Given the description of an element on the screen output the (x, y) to click on. 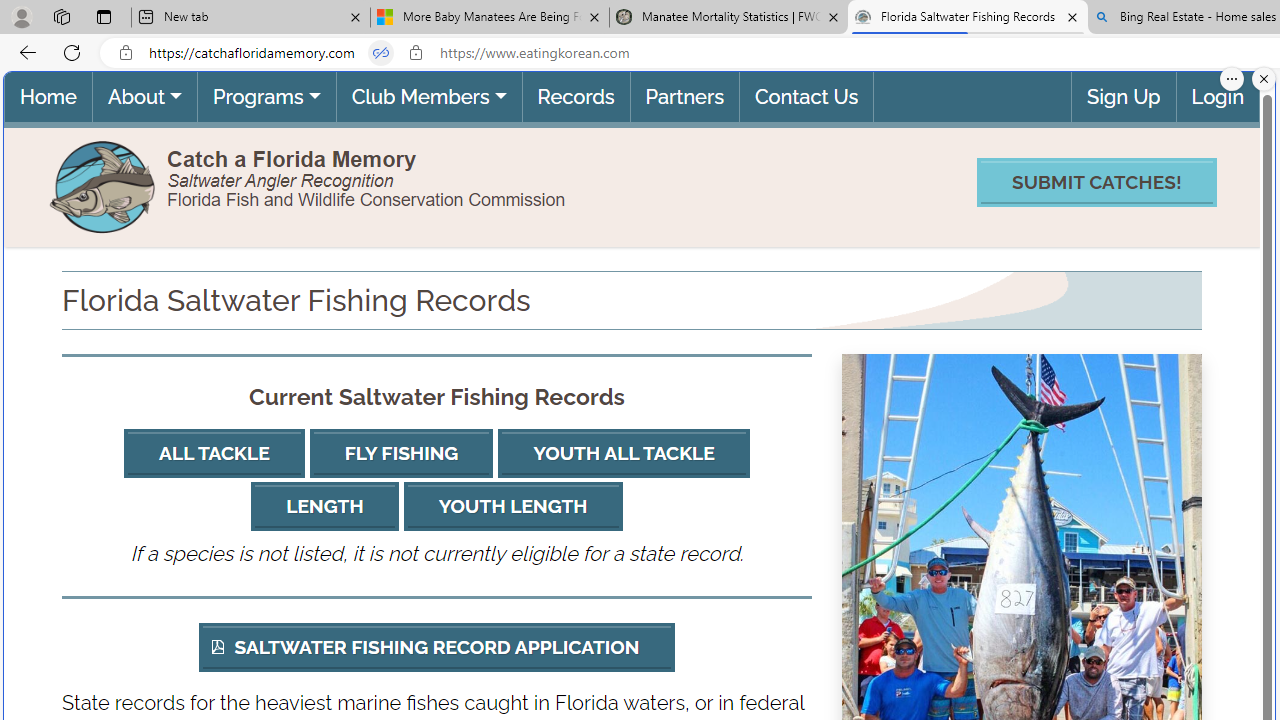
Club Members (428, 96)
Records (574, 96)
Sign Up (1123, 96)
More options. (1232, 79)
FLY FISHING (401, 453)
YOUTH LENGTH (513, 506)
